Given the description of an element on the screen output the (x, y) to click on. 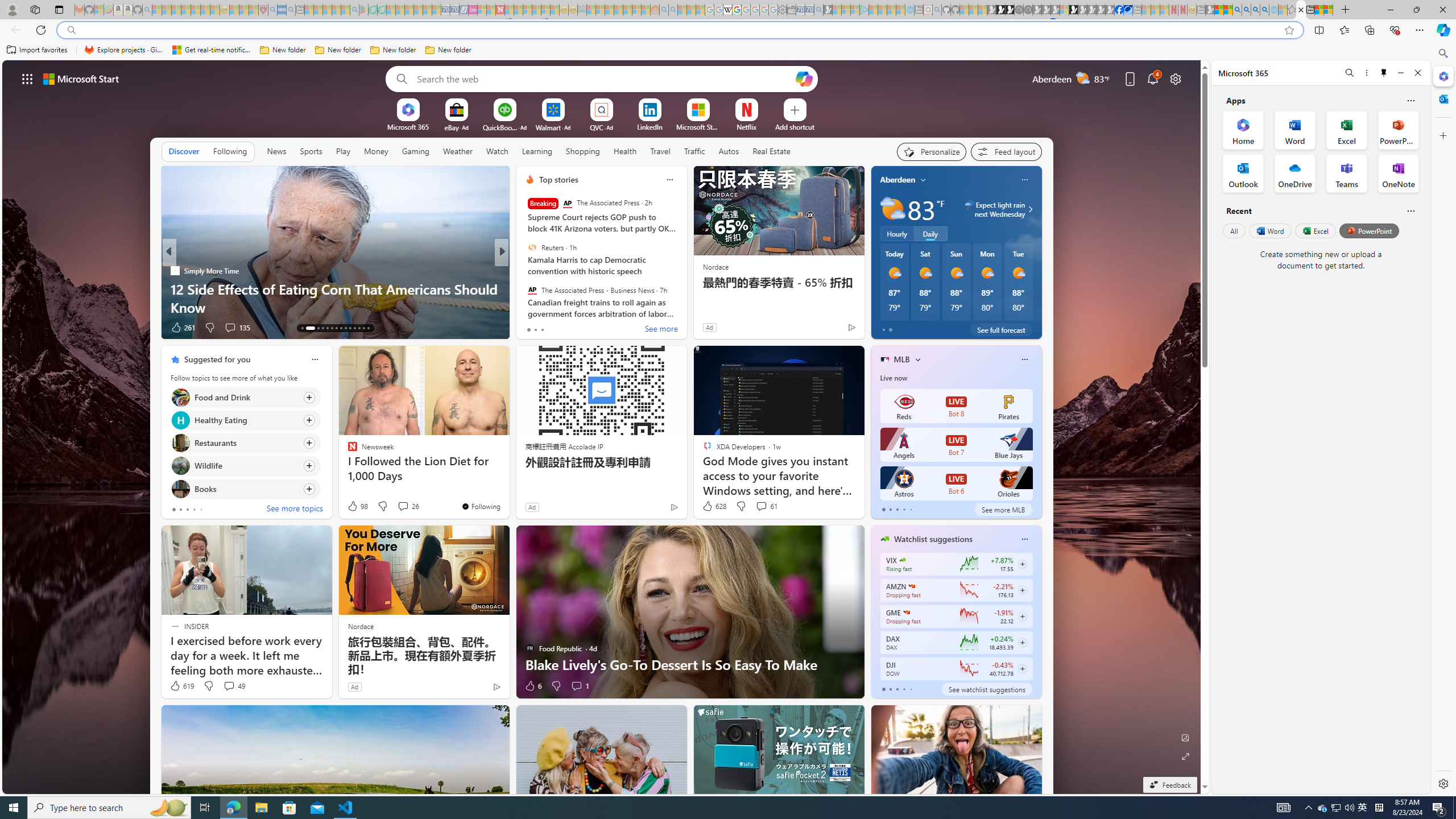
Feed settings (1005, 151)
LinkedIn (649, 126)
AMAZON.COM, INC. (911, 586)
Outlook Office App (1243, 172)
How to clear the cache on your iPhone (and why you should) (684, 298)
See watchlist suggestions (986, 689)
Suggested for you (216, 359)
